Given the description of an element on the screen output the (x, y) to click on. 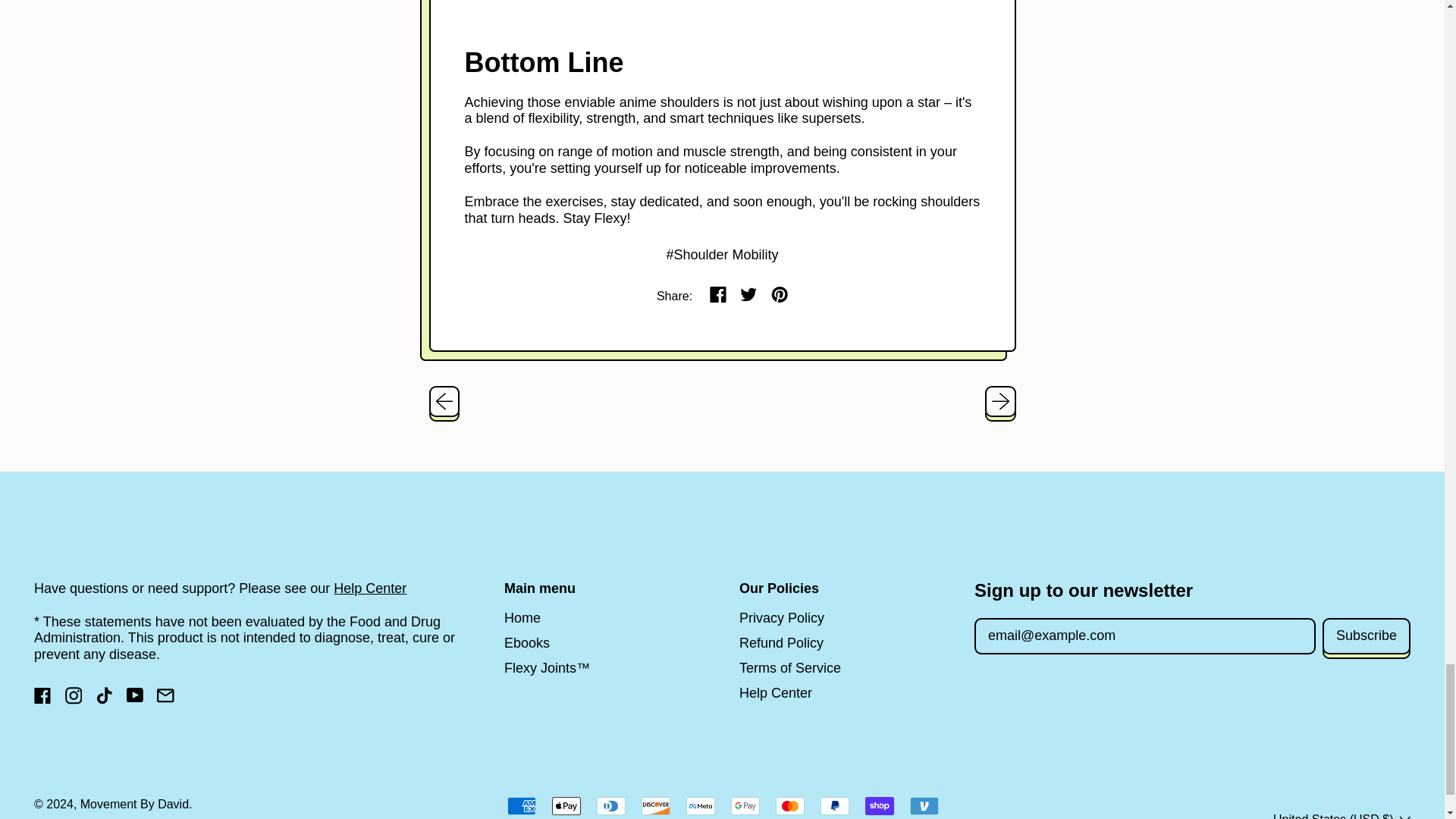
Share on Facebook (718, 295)
Home (521, 617)
Terms of Service (790, 667)
Ebooks (526, 642)
Pin on Pinterest (779, 295)
Help Center (369, 588)
Email (165, 699)
Privacy Policy (781, 617)
Facebook (41, 699)
TikTok (104, 699)
Tweet on Twitter (748, 295)
Movement By David (134, 803)
Refund Policy (781, 642)
Instagram (73, 699)
Subscribe (1366, 636)
